Given the description of an element on the screen output the (x, y) to click on. 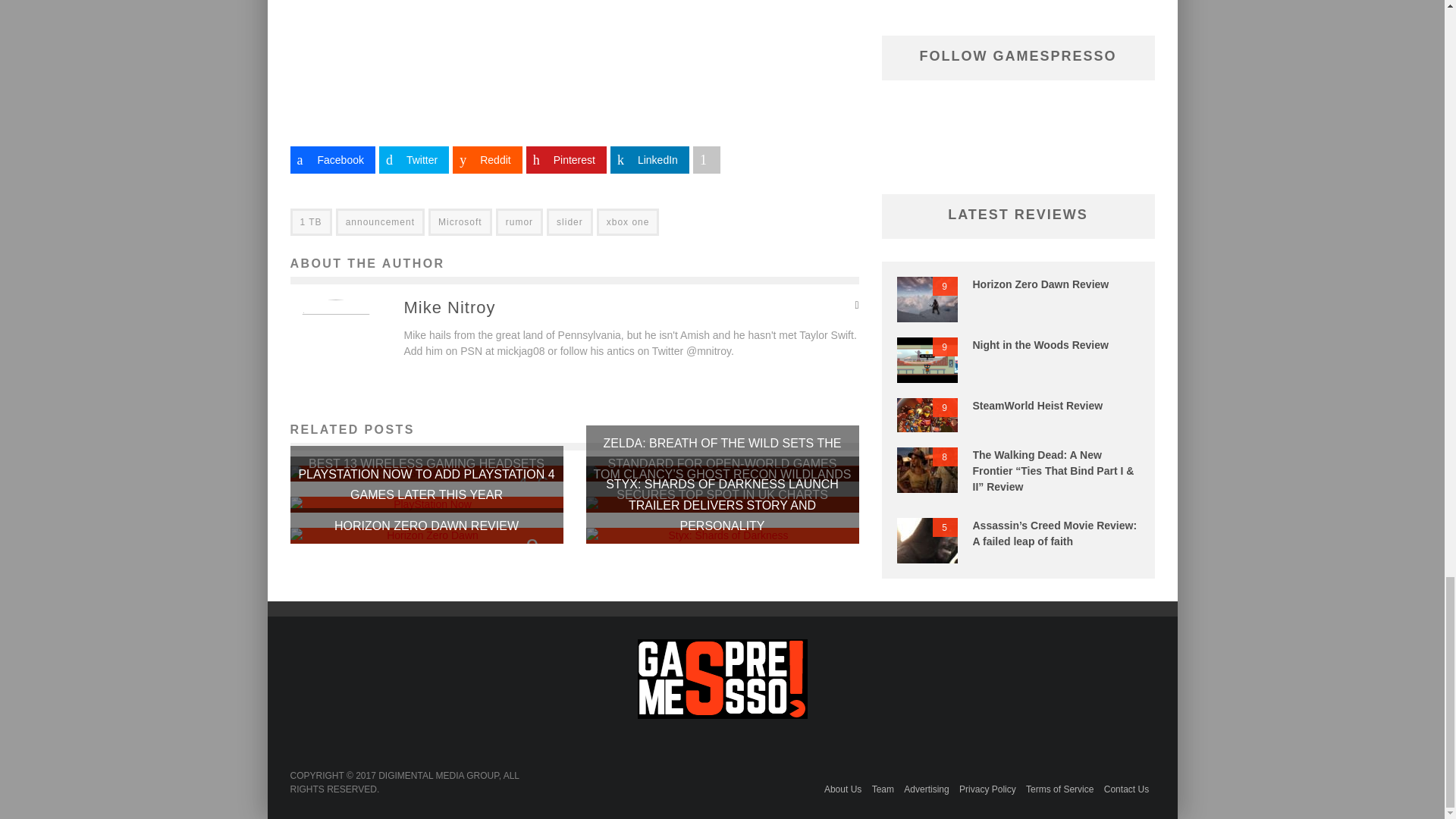
Share on Pinterest (566, 159)
Share on Facebook (331, 159)
Share on Twitter (413, 159)
Share on LinkedIn (649, 159)
Share on More Button (706, 159)
Share on Reddit (486, 159)
